Given the description of an element on the screen output the (x, y) to click on. 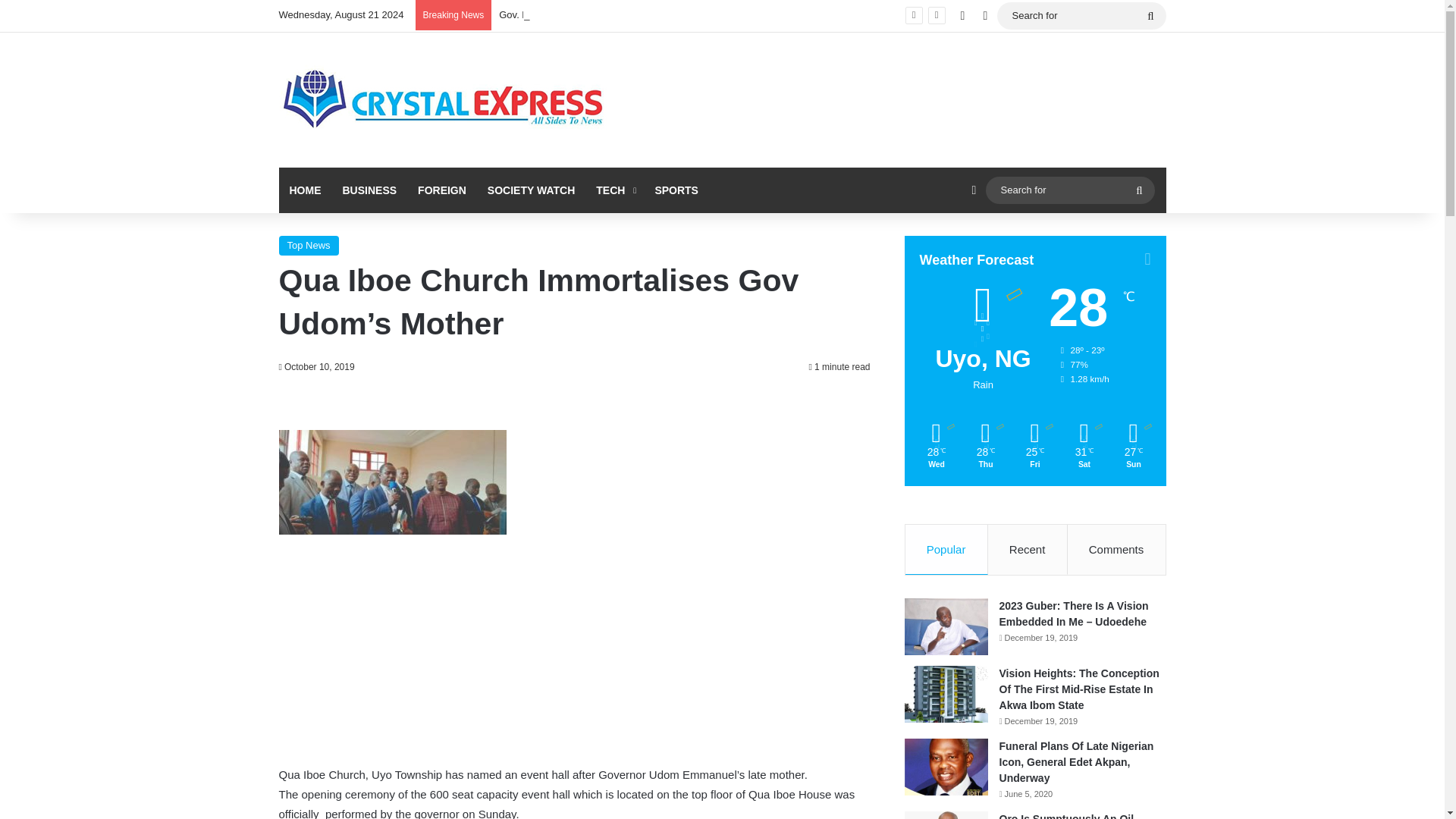
Search for (1139, 189)
Top News (309, 245)
Comments (1116, 549)
Recent (1027, 549)
Search for (1080, 15)
Search for (1150, 15)
TECH (614, 189)
BUSINESS (369, 189)
Gov. Eno Increases Ibom Air Fleet With New Airbus A220-300 (633, 14)
